Given the description of an element on the screen output the (x, y) to click on. 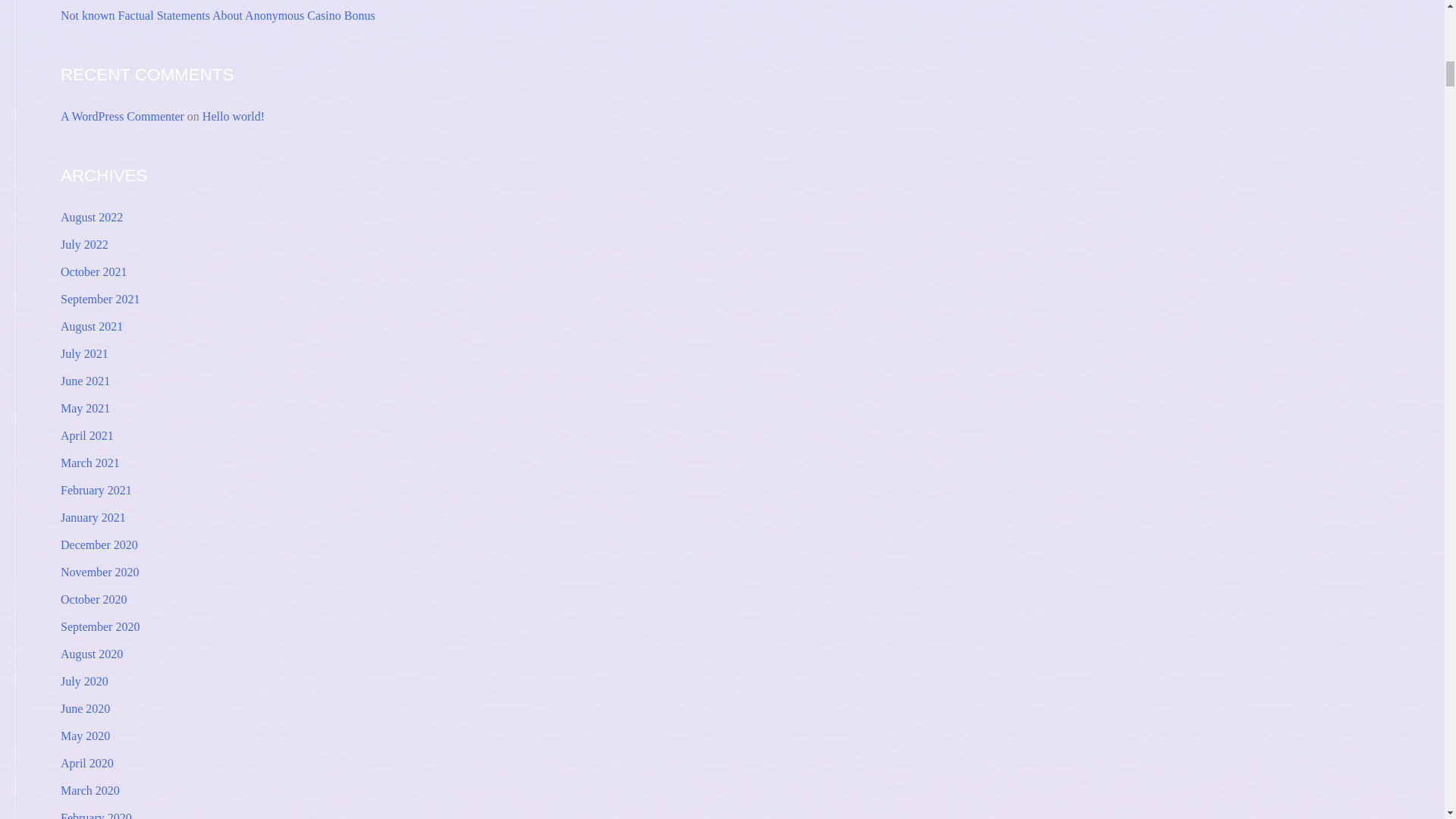
Hello world! (233, 115)
A WordPress Commenter (122, 115)
July 2021 (84, 353)
August 2022 (91, 216)
October 2021 (94, 271)
June 2021 (85, 380)
July 2022 (84, 244)
April 2021 (87, 435)
September 2021 (100, 298)
May 2021 (85, 408)
